Given the description of an element on the screen output the (x, y) to click on. 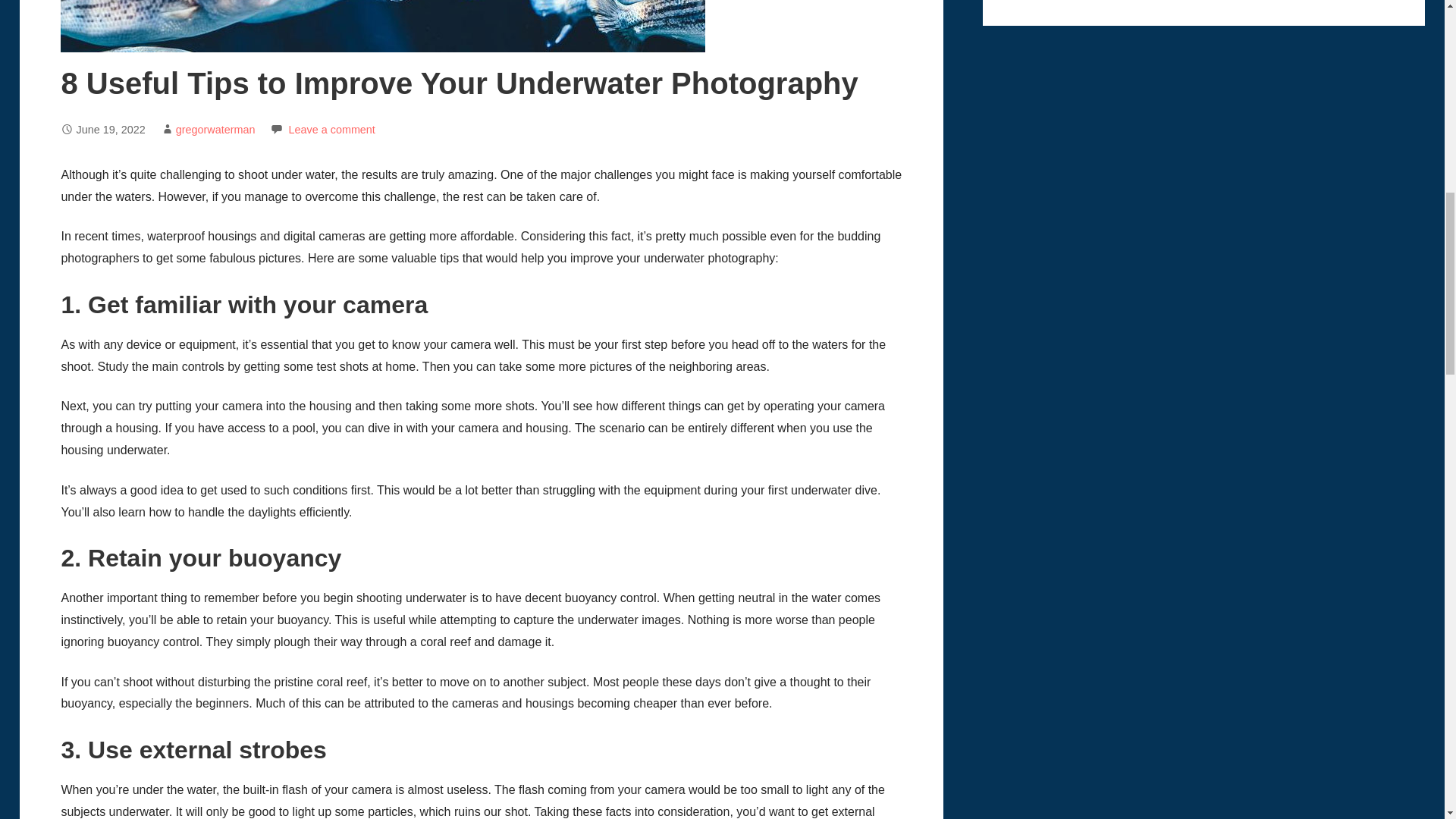
Posts by gregorwaterman (216, 129)
Leave a comment (331, 129)
gregorwaterman (216, 129)
